Given the description of an element on the screen output the (x, y) to click on. 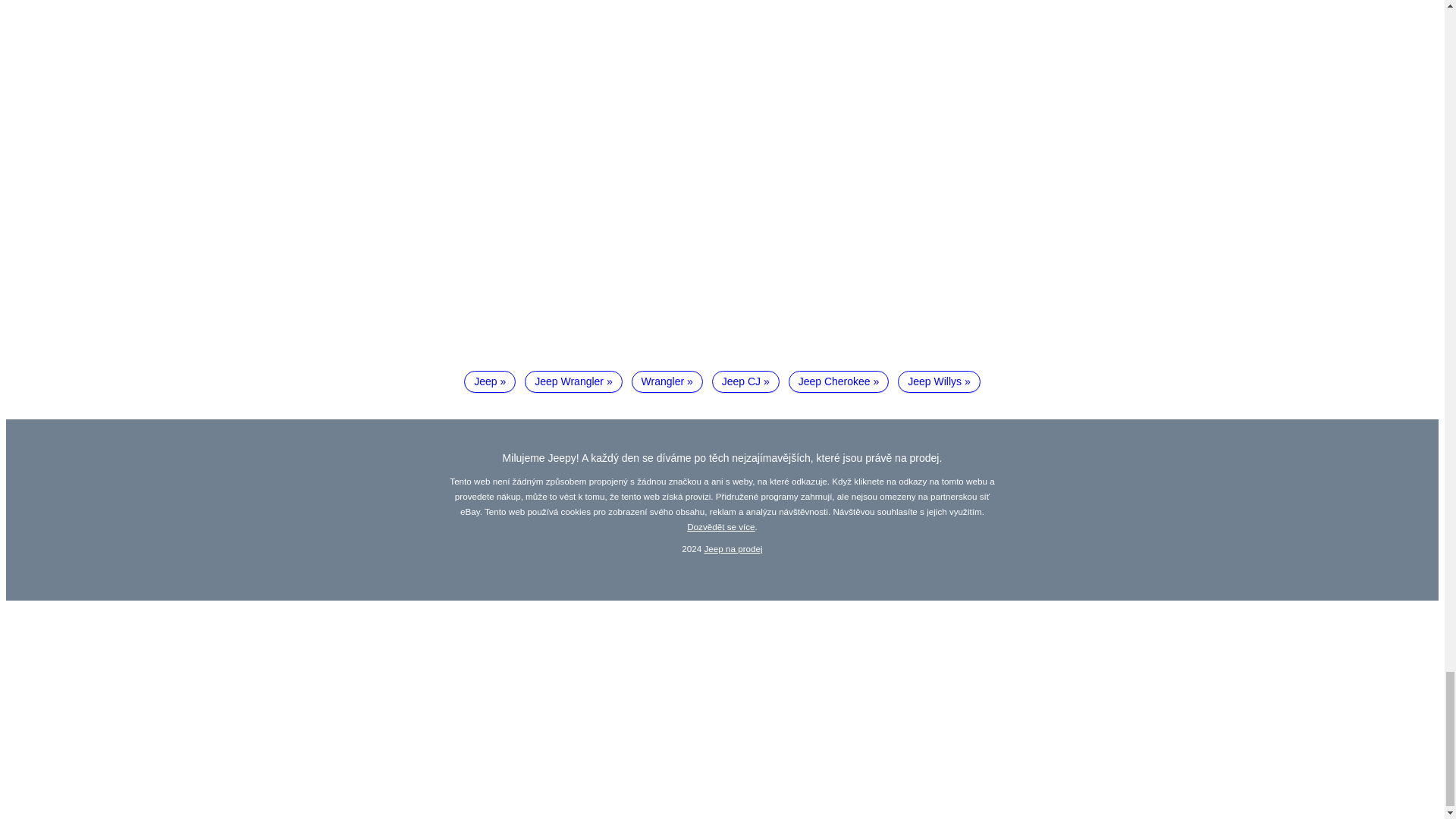
Jeep Willys (938, 382)
Wrangler (667, 382)
Jeep Cherokee (839, 382)
Jeep na prodej (733, 548)
Jeep (489, 382)
Jeep CJ (744, 382)
Jeep Wrangler (572, 382)
